Given the description of an element on the screen output the (x, y) to click on. 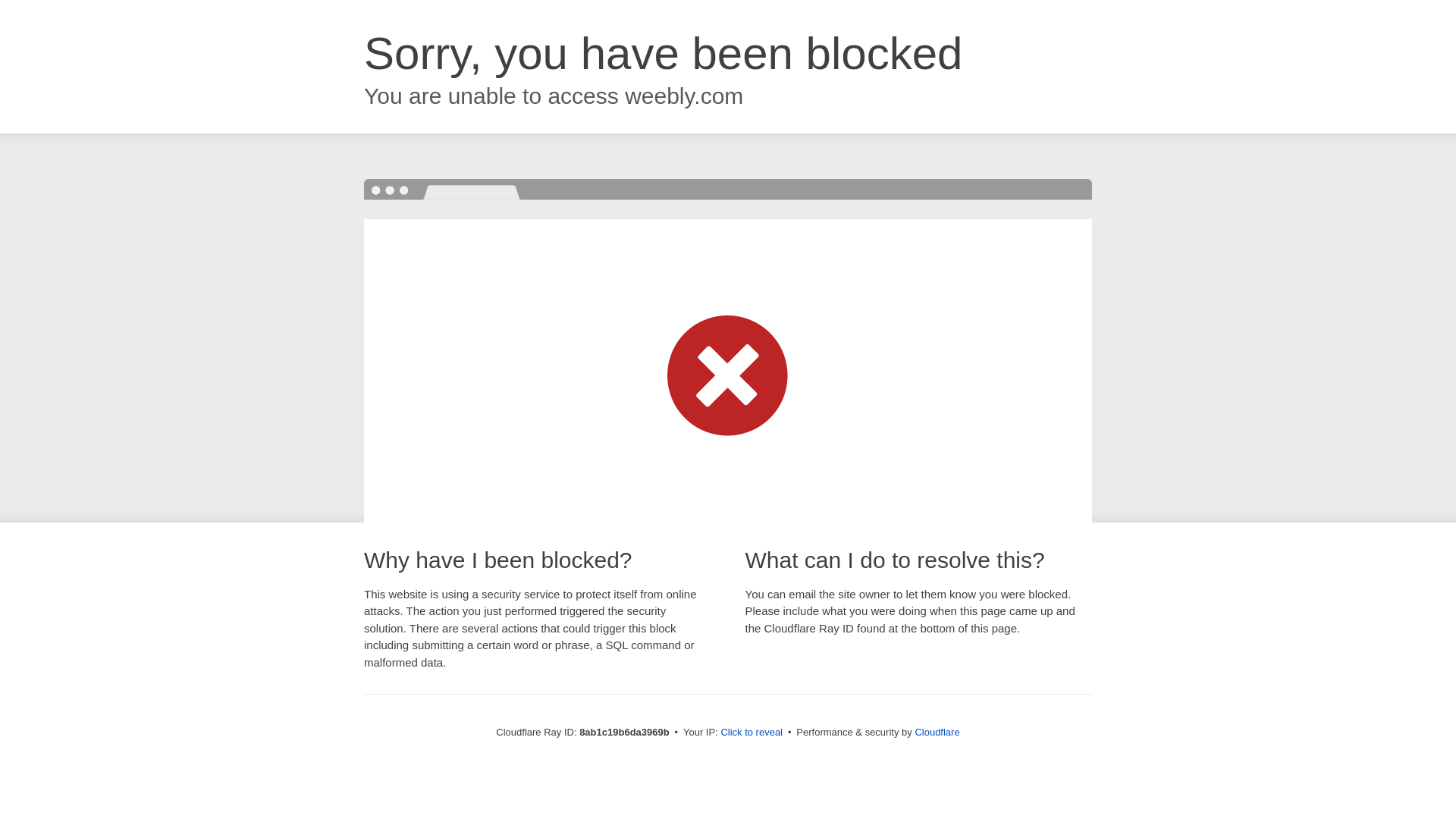
Cloudflare (936, 731)
Click to reveal (751, 732)
